Given the description of an element on the screen output the (x, y) to click on. 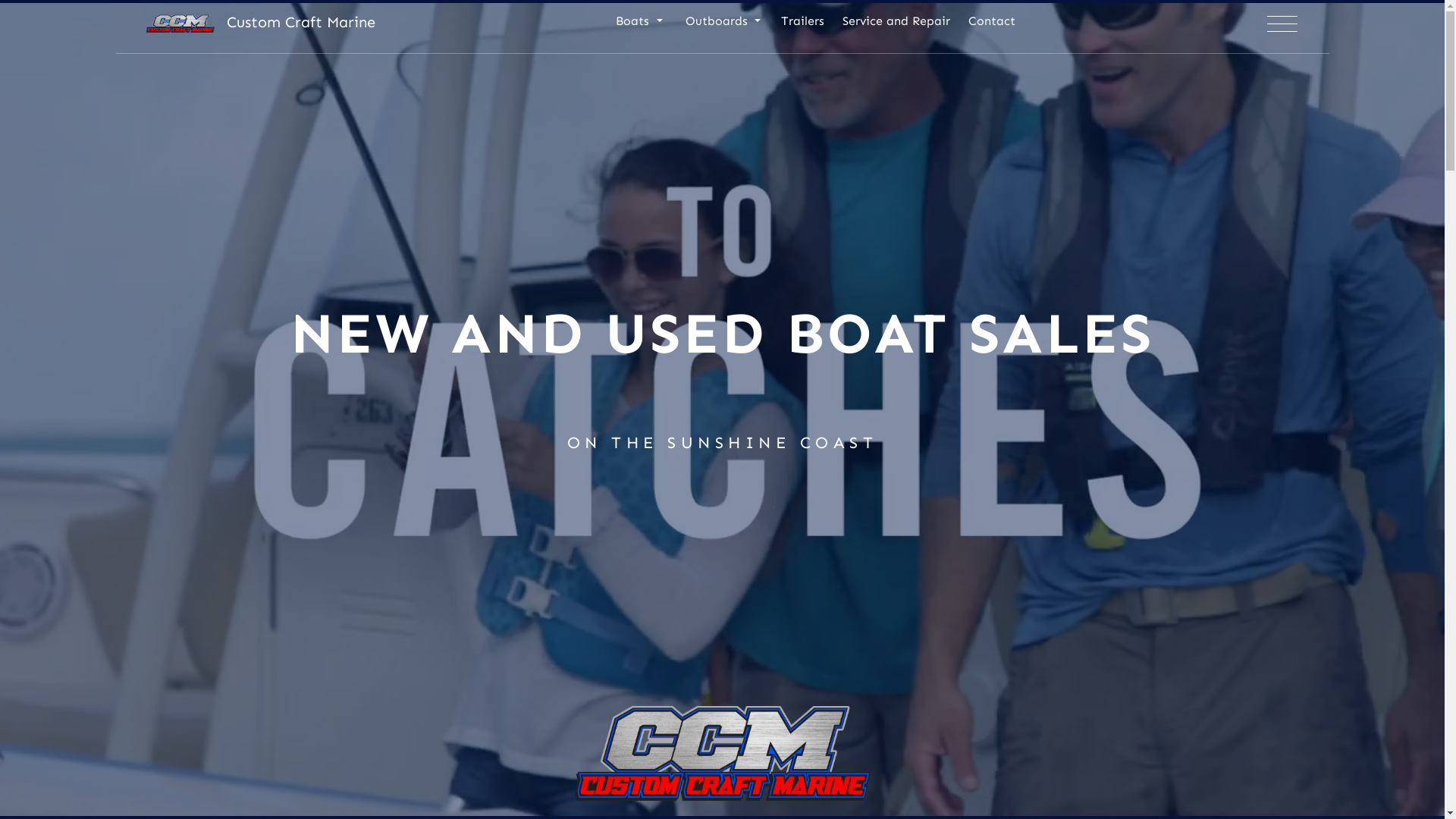
Outboards Element type: text (722, 26)
Contact Element type: text (991, 26)
Trailers Element type: text (802, 26)
Boats Element type: text (638, 26)
Custom Craft Marine Element type: text (260, 21)
Service and Repair Element type: text (896, 26)
